Given the description of an element on the screen output the (x, y) to click on. 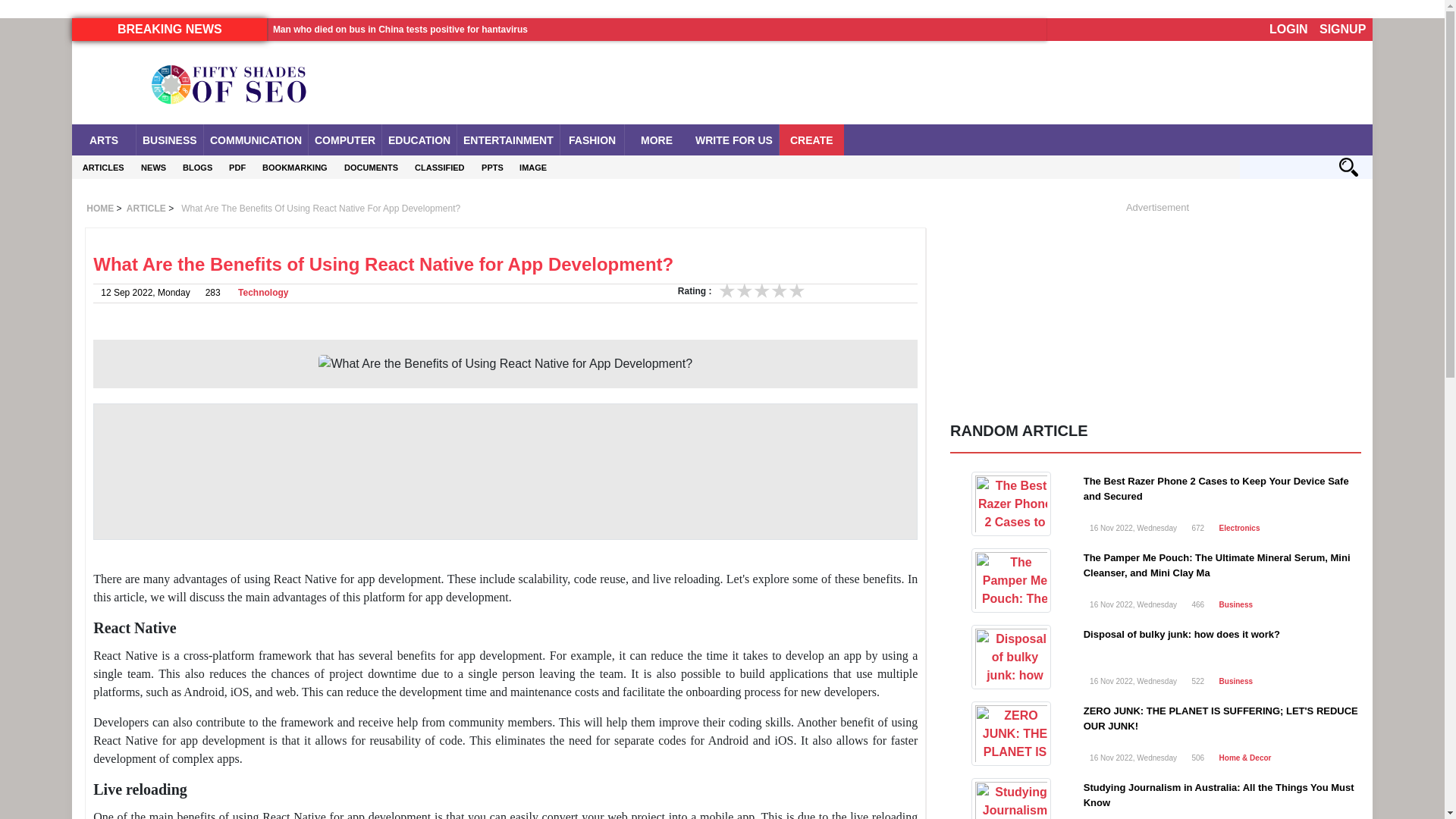
Rechercher (1348, 166)
MORE (656, 140)
Man who died on bus in China tests positive for hantavirus (400, 29)
LOGIN (1288, 29)
SIGNUP (1342, 29)
EDUCATION (419, 140)
ARTS (102, 140)
India to announce World Healthcare Summit (368, 76)
COMPUTER (344, 140)
